Given the description of an element on the screen output the (x, y) to click on. 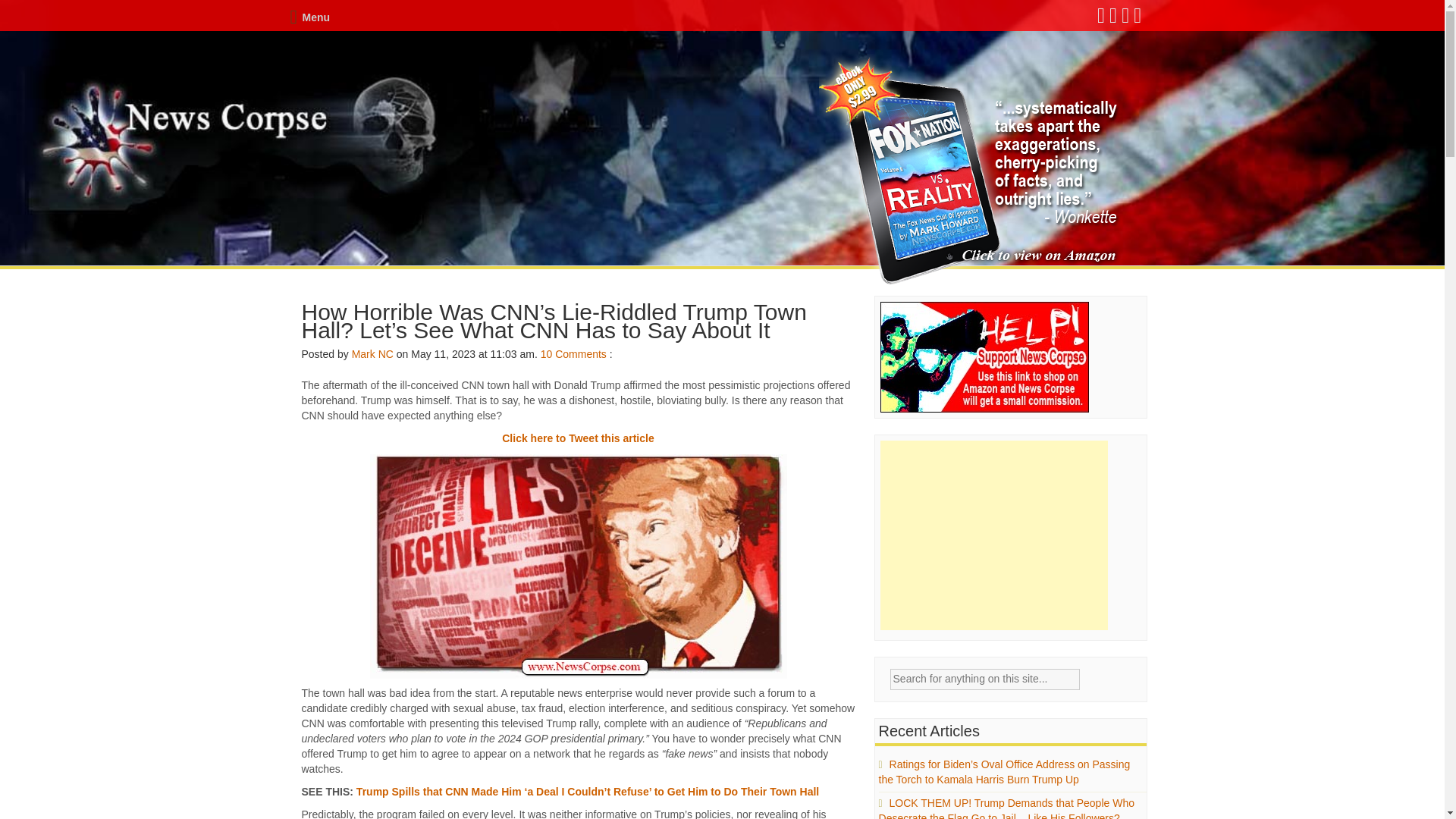
Pinterest (1138, 19)
Click here to Tweet this article (577, 438)
Menu (309, 17)
Mark NC (372, 354)
10 (546, 354)
Google Plus (1126, 19)
Posts by Mark NC (372, 354)
Fox Nation vs. Reality (971, 170)
Facebook (1101, 19)
Comments (580, 354)
Twitter (1113, 19)
